Given the description of an element on the screen output the (x, y) to click on. 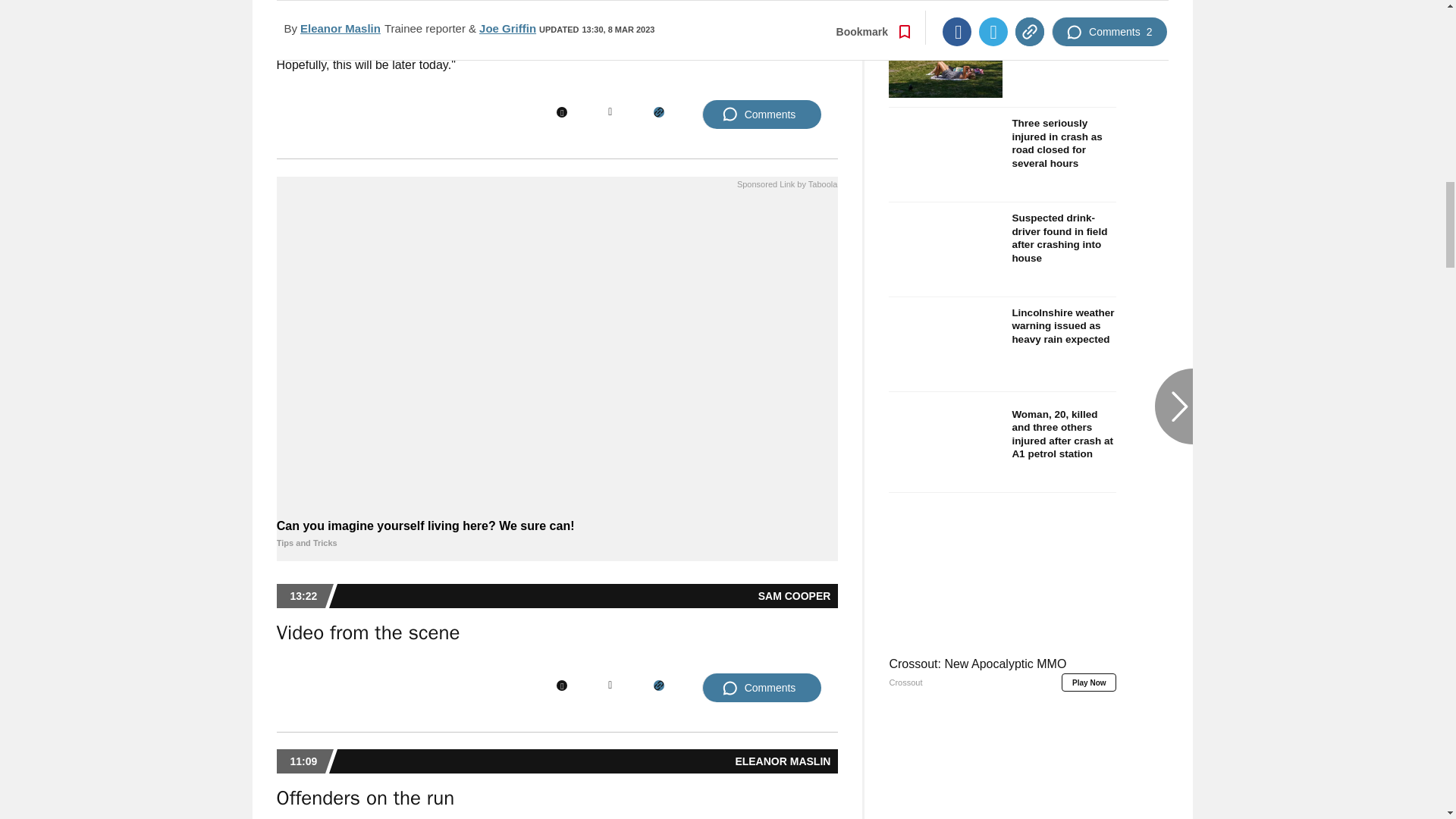
Facebook (561, 112)
